Given the description of an element on the screen output the (x, y) to click on. 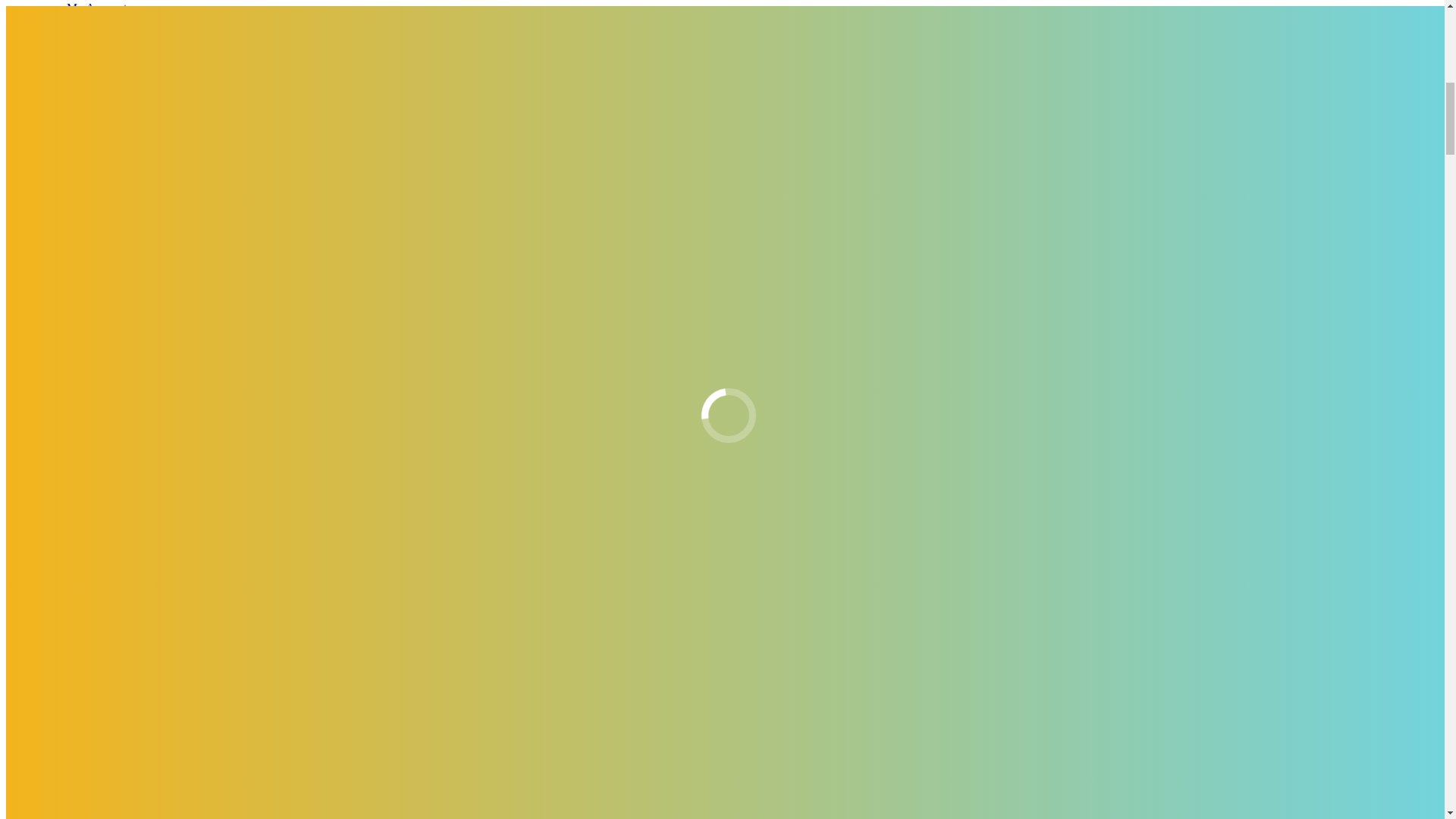
10:53 AM (356, 705)
December 2019 Pins (86, 312)
View all posts by Admin (283, 705)
Home (50, 298)
